Given the description of an element on the screen output the (x, y) to click on. 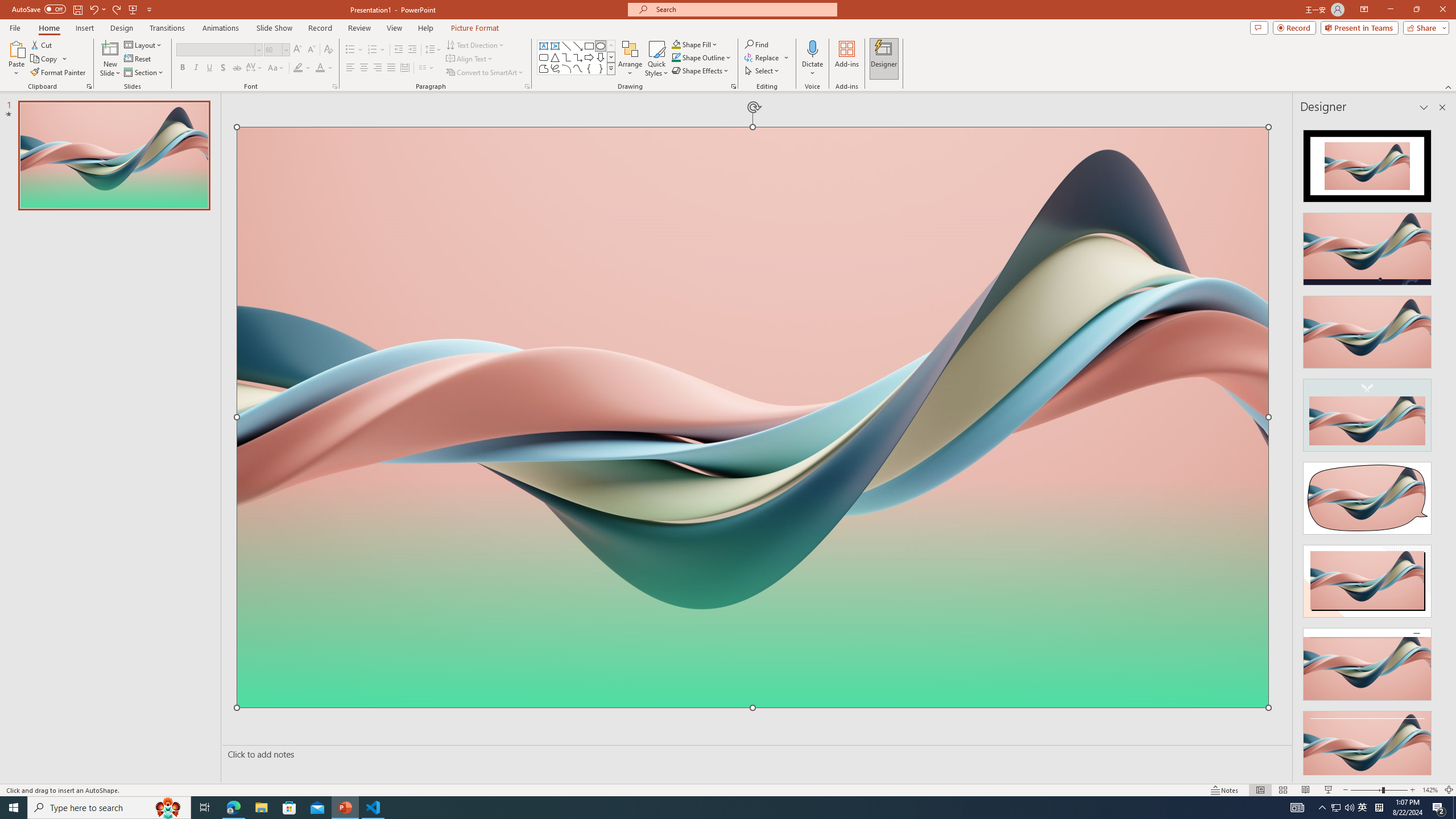
Decorative Locked (752, 575)
Picture Format (475, 28)
